Given the description of an element on the screen output the (x, y) to click on. 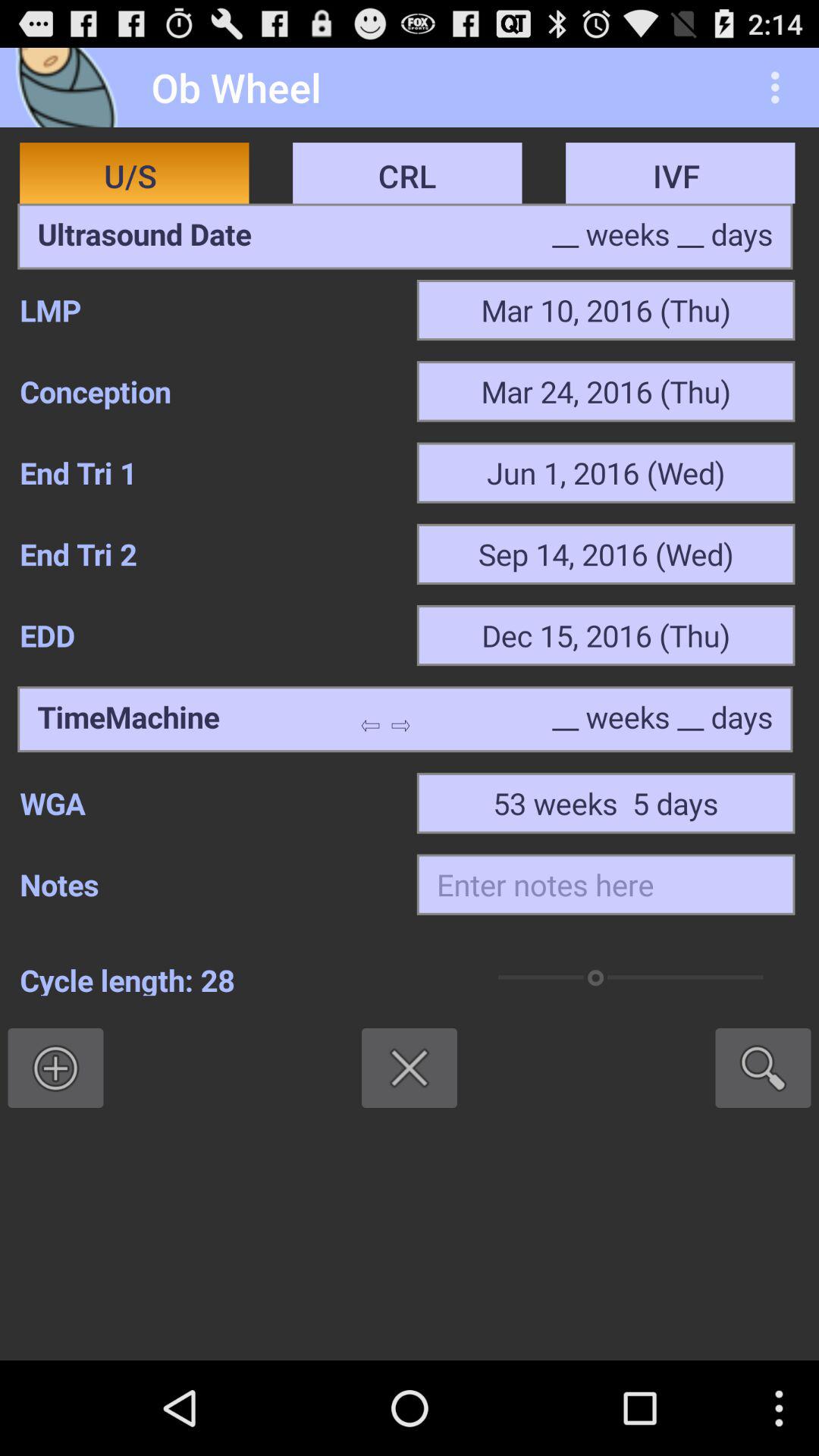
click app to the right of ob wheel item (779, 87)
